Given the description of an element on the screen output the (x, y) to click on. 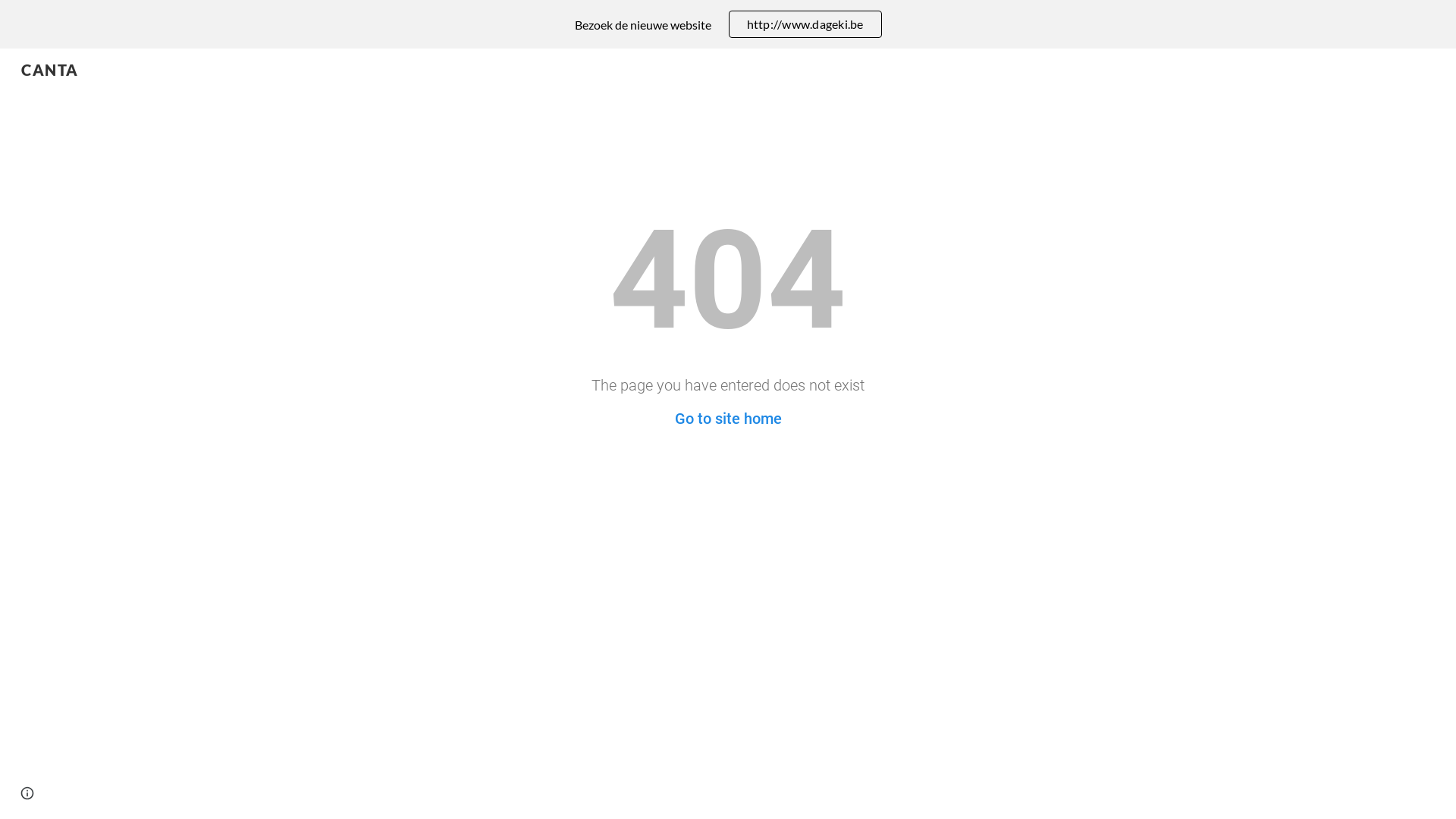
Go to site home Element type: text (727, 418)
http://www.dageki.be Element type: text (805, 24)
CANTA Element type: text (49, 67)
